Given the description of an element on the screen output the (x, y) to click on. 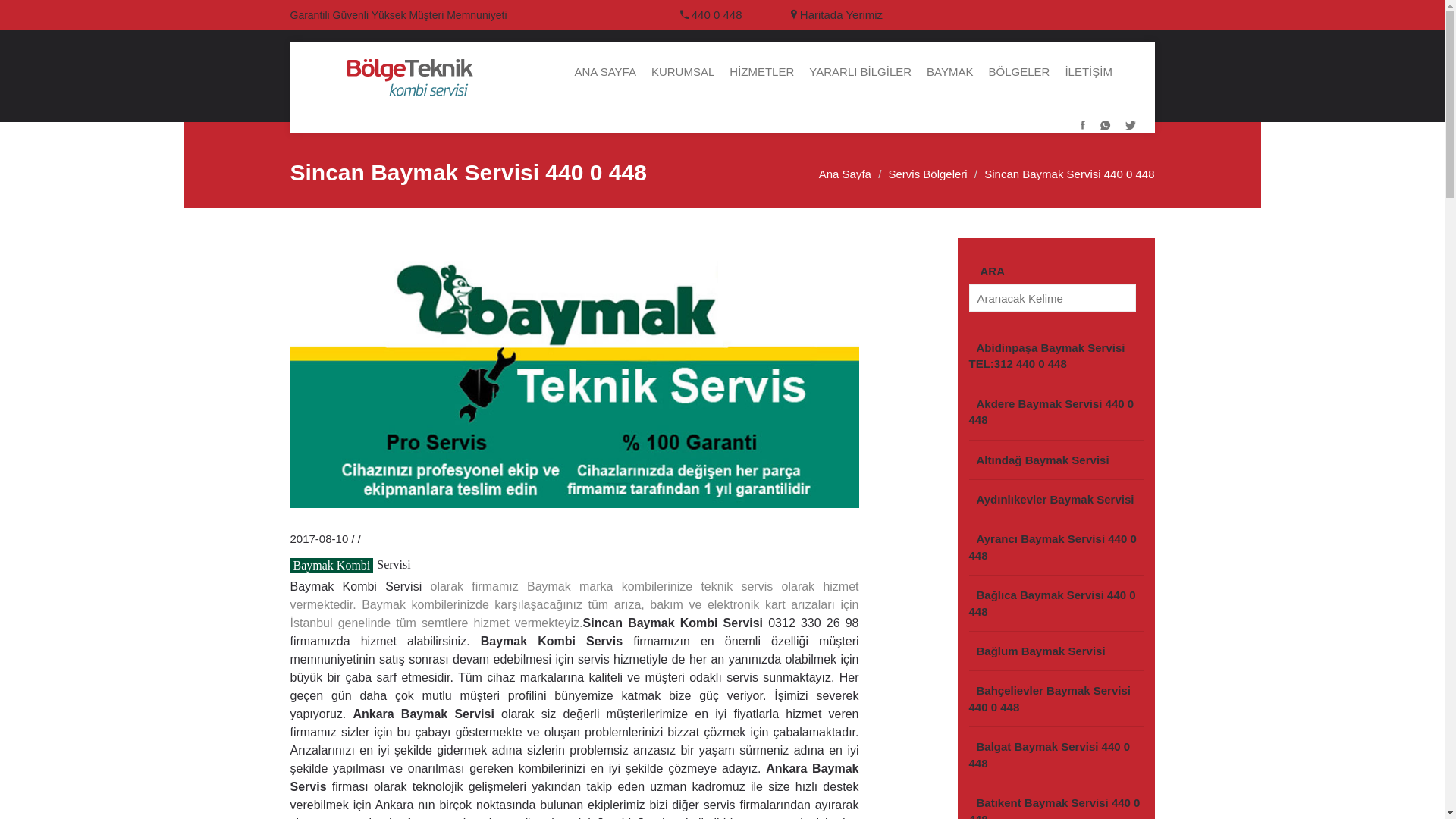
BAYMAK Element type: text (949, 71)
  Element type: text (365, 538)
ARA Element type: text (992, 270)
Akdere Baymak Servisi 440 0 448 Element type: text (1056, 411)
440 0 448 Element type: text (716, 15)
KURUMSAL Element type: text (682, 71)
Ana Sayfa Element type: text (845, 173)
Baymak Kombi Servisi Element type: text (355, 586)
Haritada Yerimiz Element type: text (836, 15)
ANA SAYFA Element type: text (605, 71)
Balgat Baymak Servisi 440 0 448 Element type: text (1056, 754)
